Given the description of an element on the screen output the (x, y) to click on. 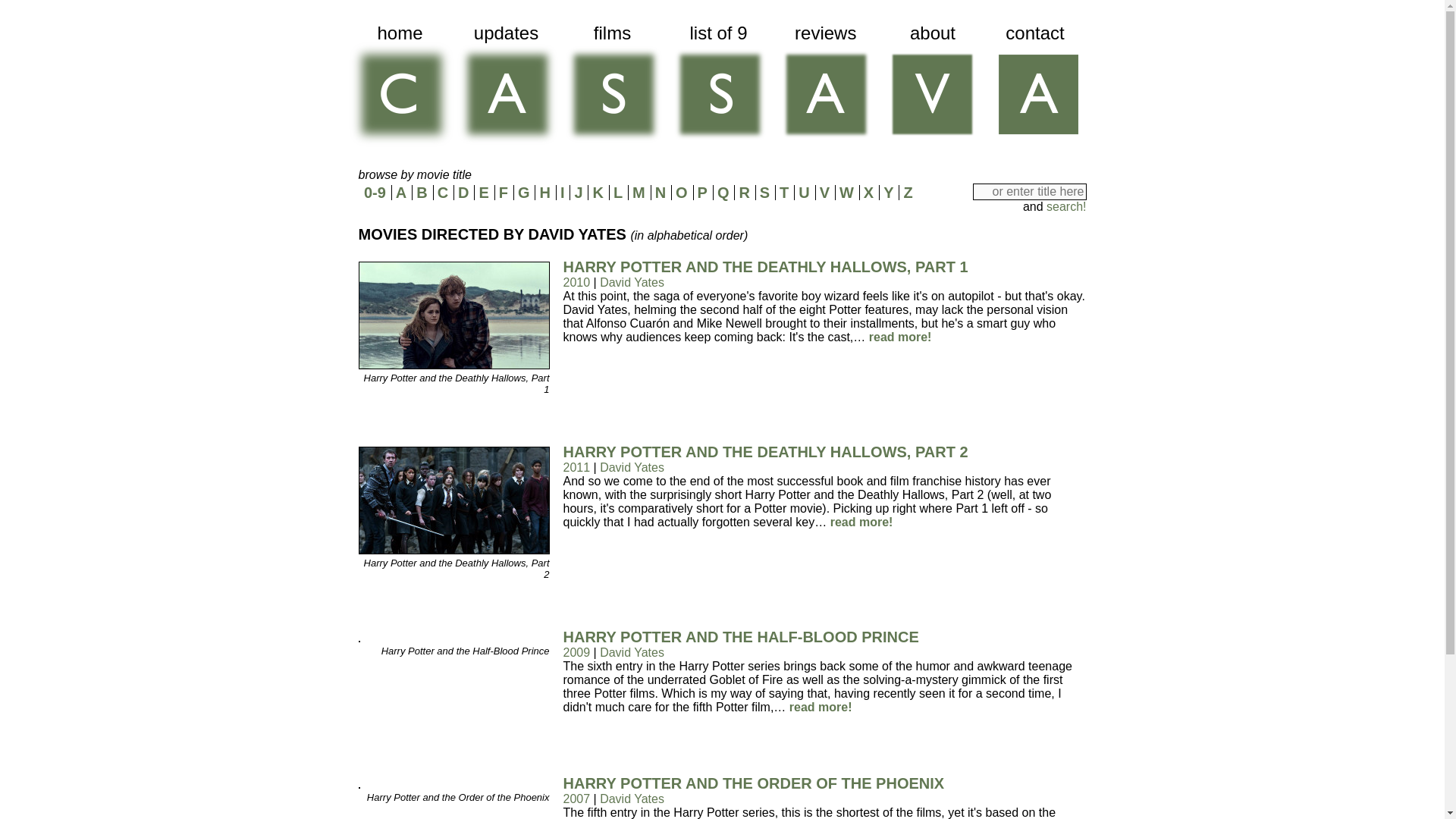
films (611, 85)
Harry Potter and the Deathly Hallows, Part 1 (453, 364)
Harry Potter and the Deathly Hallows, Part 2 (453, 549)
David Yates (631, 282)
home (399, 85)
2010 (575, 282)
0-9 (374, 192)
